Given the description of an element on the screen output the (x, y) to click on. 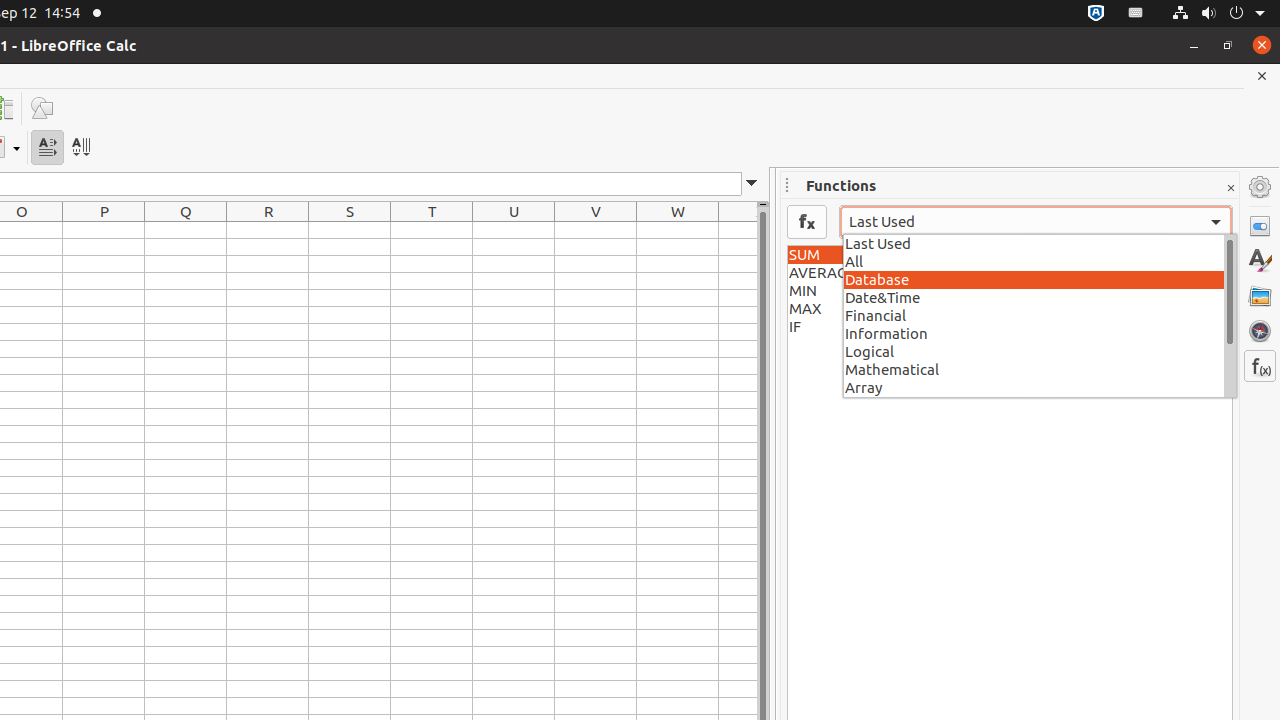
V1 Element type: table-cell (596, 230)
Close Sidebar Deck Element type: push-button (1230, 188)
R1 Element type: table-cell (268, 230)
All Element type: list-item (1040, 260)
T1 Element type: table-cell (432, 230)
